Given the description of an element on the screen output the (x, y) to click on. 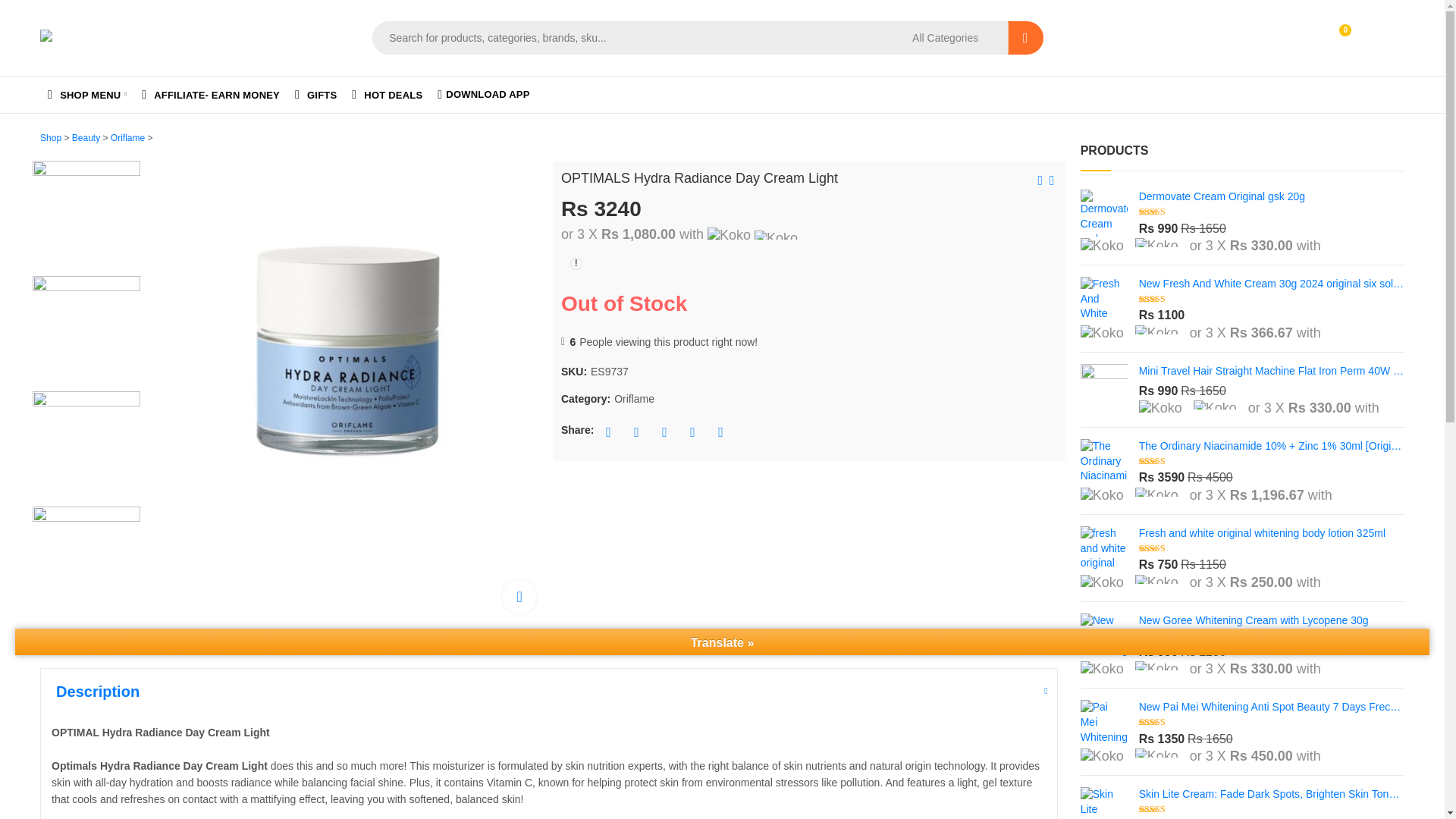
Oriflame (633, 398)
DOWNLOAD APP (483, 94)
Oriflame (127, 137)
SEARCH (1025, 37)
Lightbox (519, 596)
GIFTS (314, 94)
AFFILIATE- EARN MONEY (1357, 37)
